Given the description of an element on the screen output the (x, y) to click on. 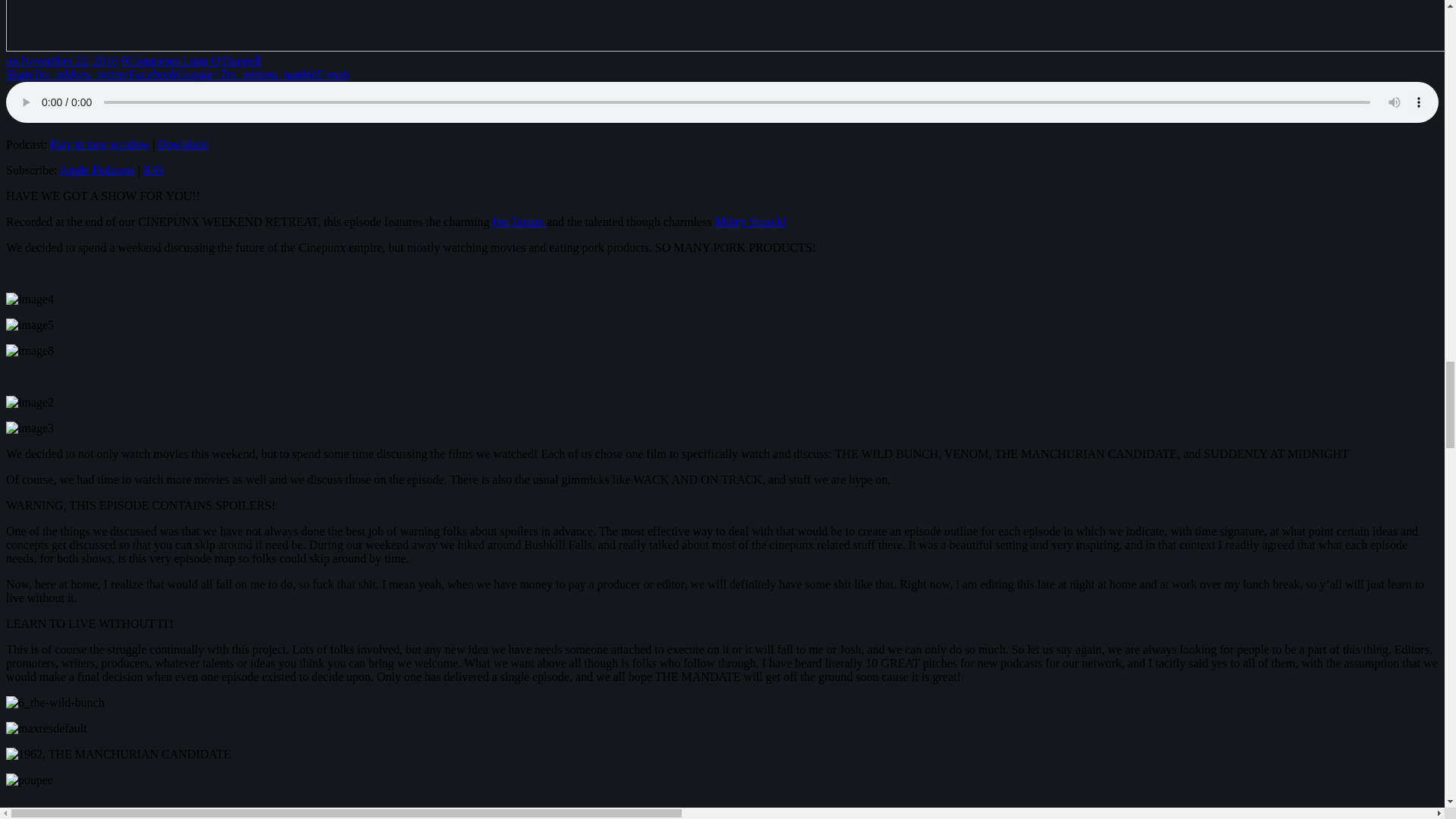
Play in new window (99, 144)
Subscribe via RSS (153, 169)
Download (183, 144)
Subscribe on Apple Podcasts (97, 169)
